Given the description of an element on the screen output the (x, y) to click on. 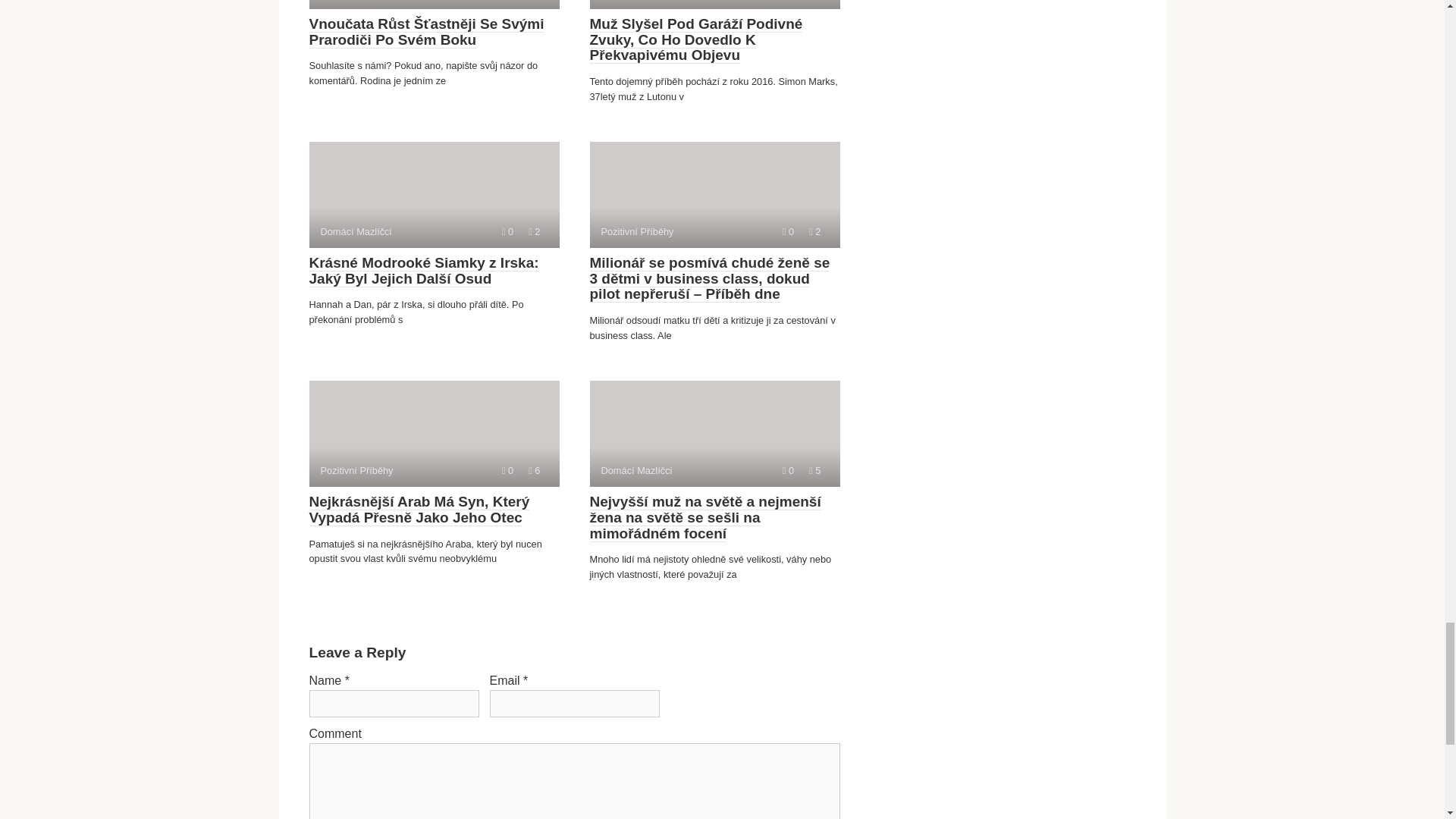
Views (534, 470)
Comments (788, 470)
Views (815, 470)
Comments (507, 470)
Comments (507, 231)
Views (534, 231)
Views (815, 231)
Comments (788, 231)
